Given the description of an element on the screen output the (x, y) to click on. 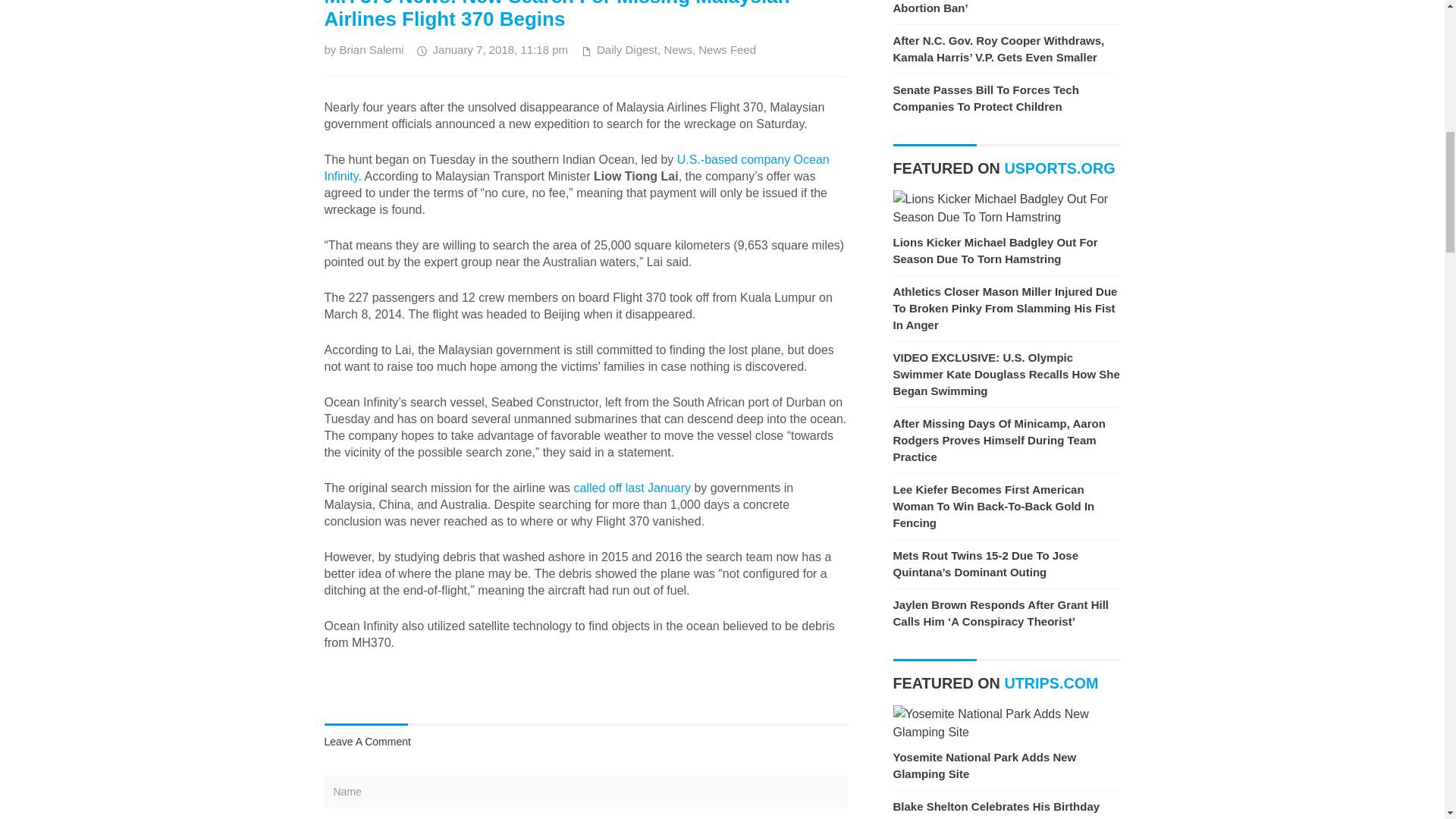
Daily Digest (627, 49)
U.S.-based company Ocean Infinity (576, 167)
News Feed (726, 49)
called off last January (631, 487)
News (678, 49)
